Given the description of an element on the screen output the (x, y) to click on. 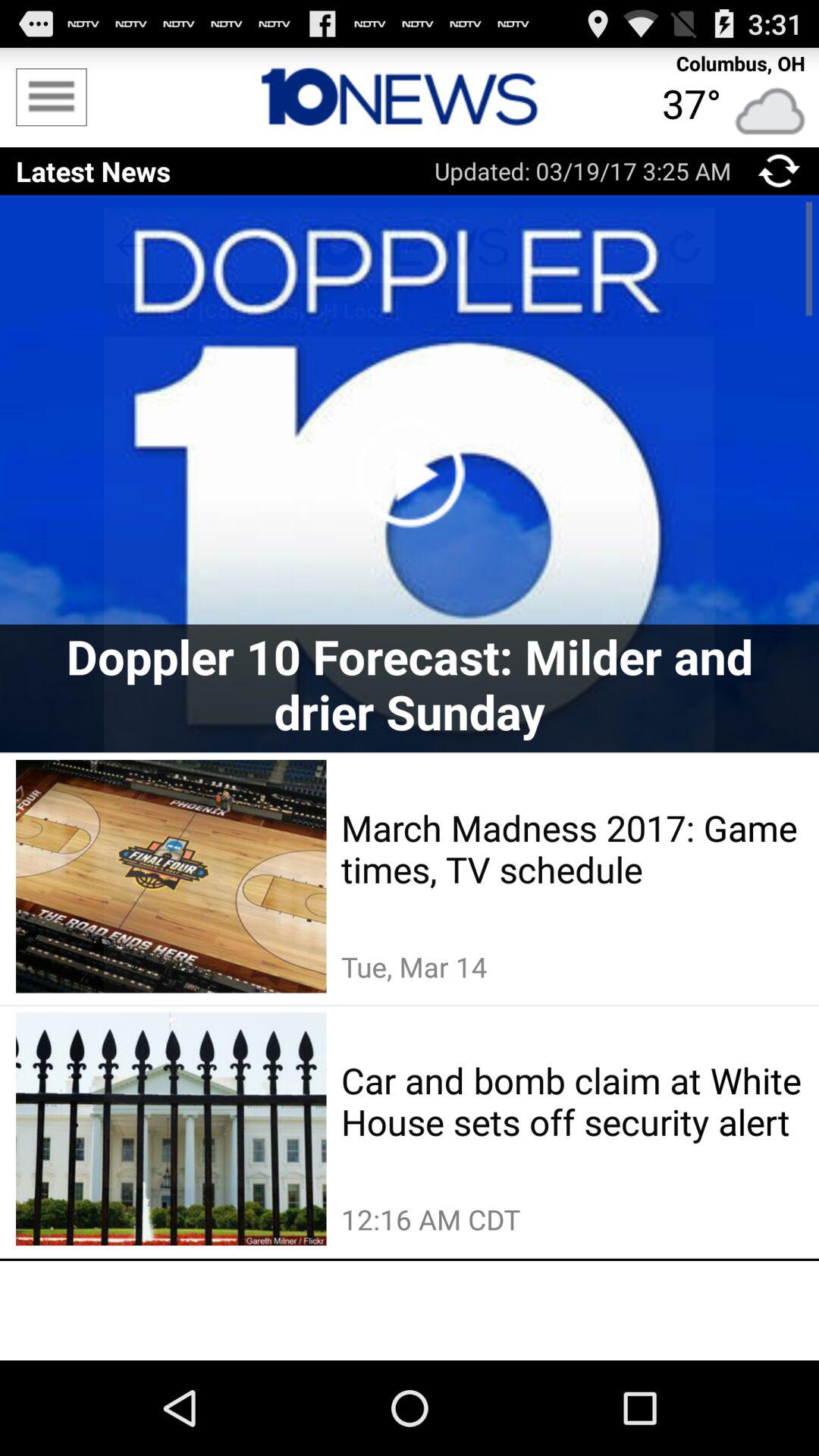
select icon above the doppler 10 forecast app (409, 473)
